Given the description of an element on the screen output the (x, y) to click on. 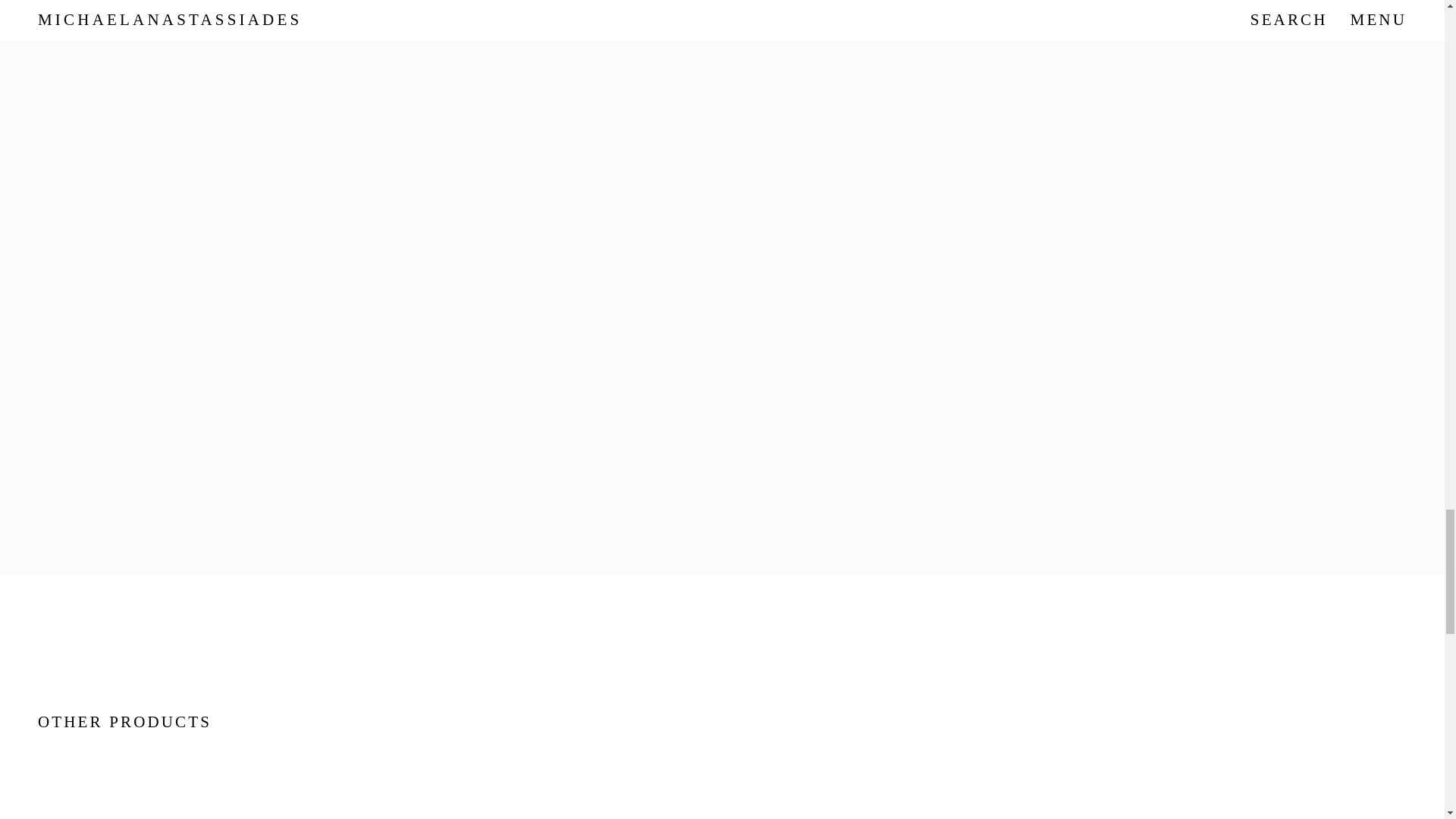
BEAUTY MIRROR (721, 814)
MEDITATION STOOL (240, 814)
MOBILE CHANDELIER 6 (1203, 814)
